Given the description of an element on the screen output the (x, y) to click on. 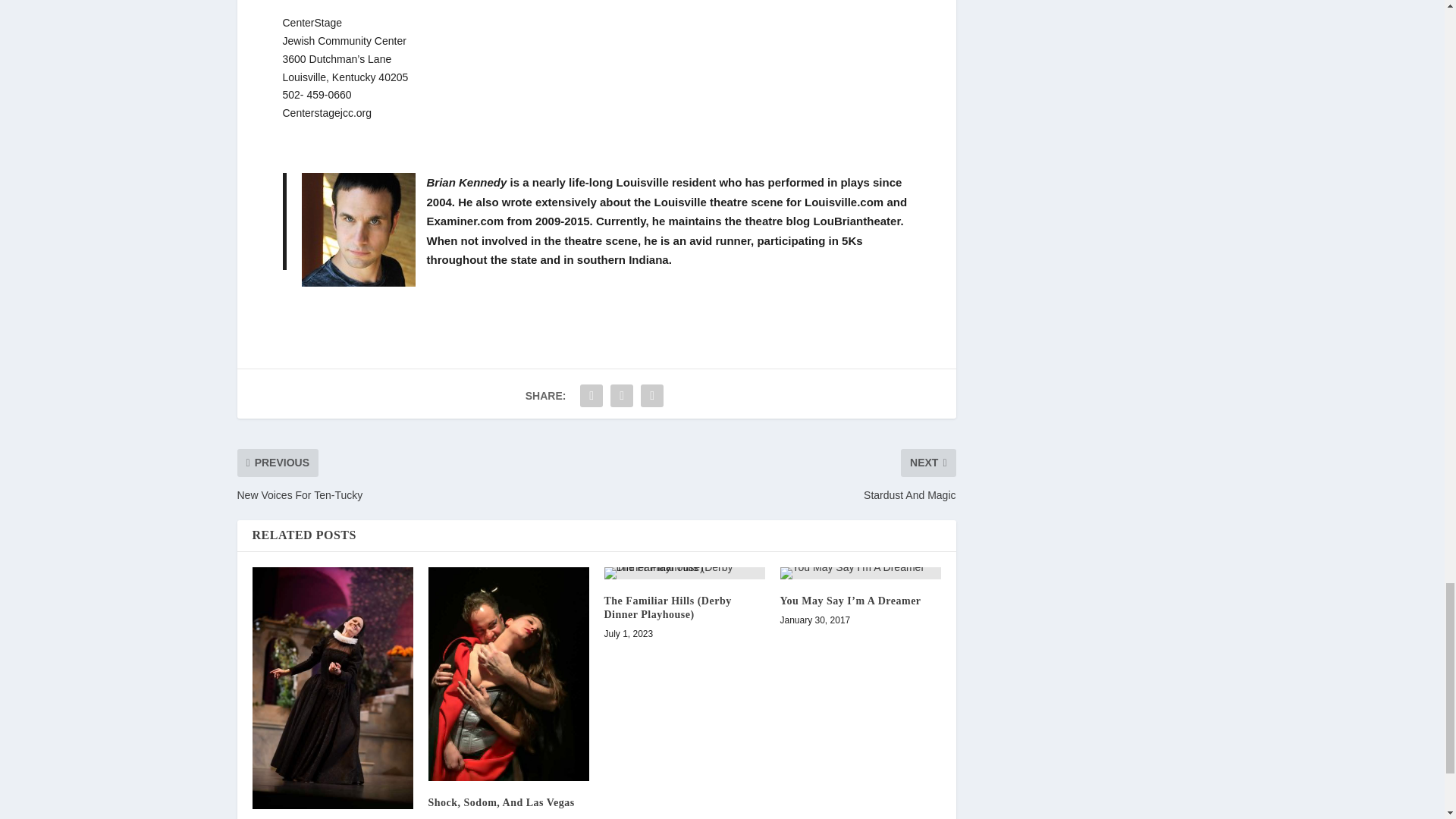
Share "Maggie The Cat" via Email (651, 395)
Share "Maggie The Cat" via Twitter (622, 395)
Share "Maggie The Cat" via Facebook (591, 395)
